Given the description of an element on the screen output the (x, y) to click on. 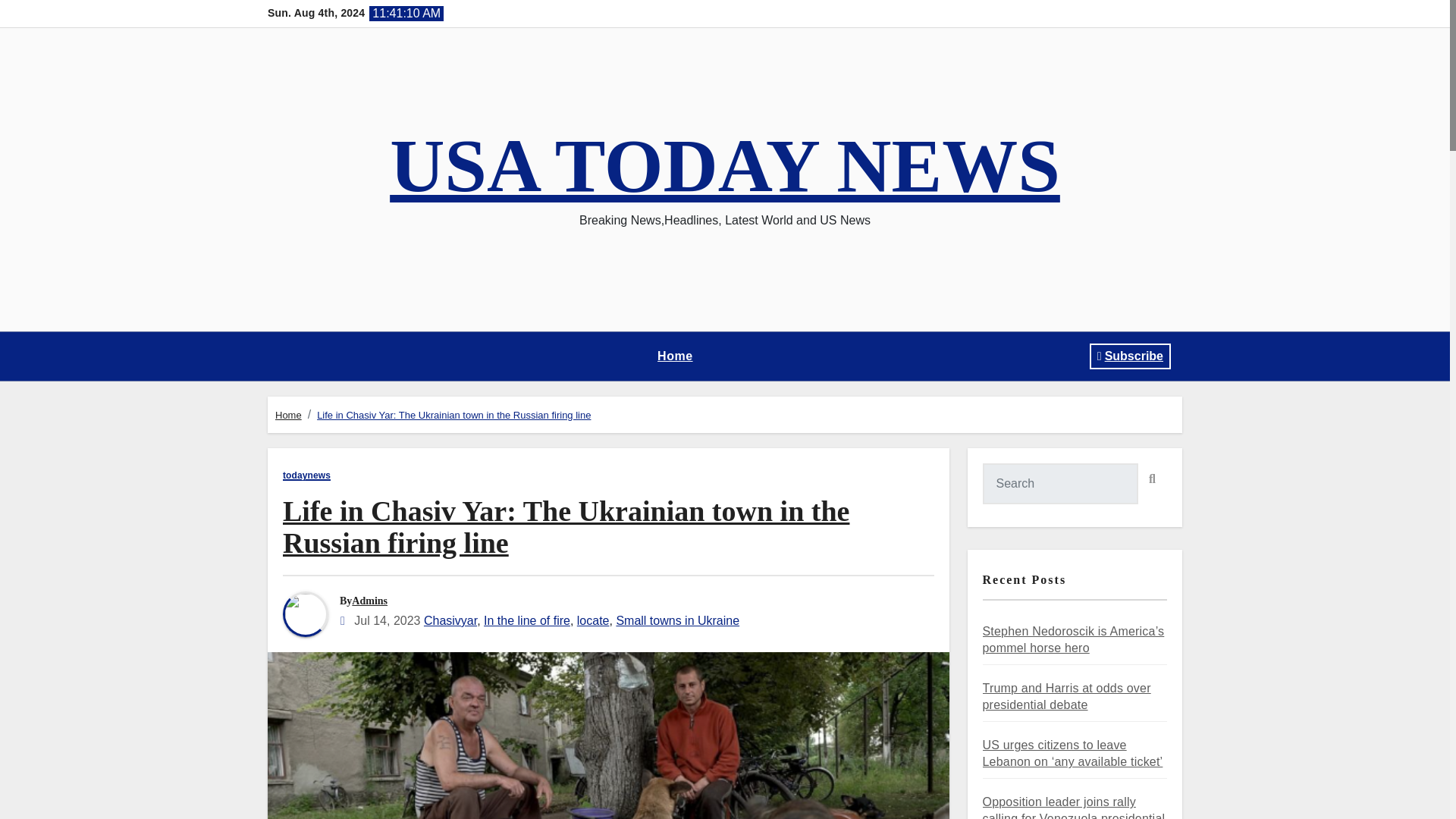
Subscribe (1129, 356)
Home (674, 356)
USA TODAY NEWS (724, 165)
Home (674, 356)
